Given the description of an element on the screen output the (x, y) to click on. 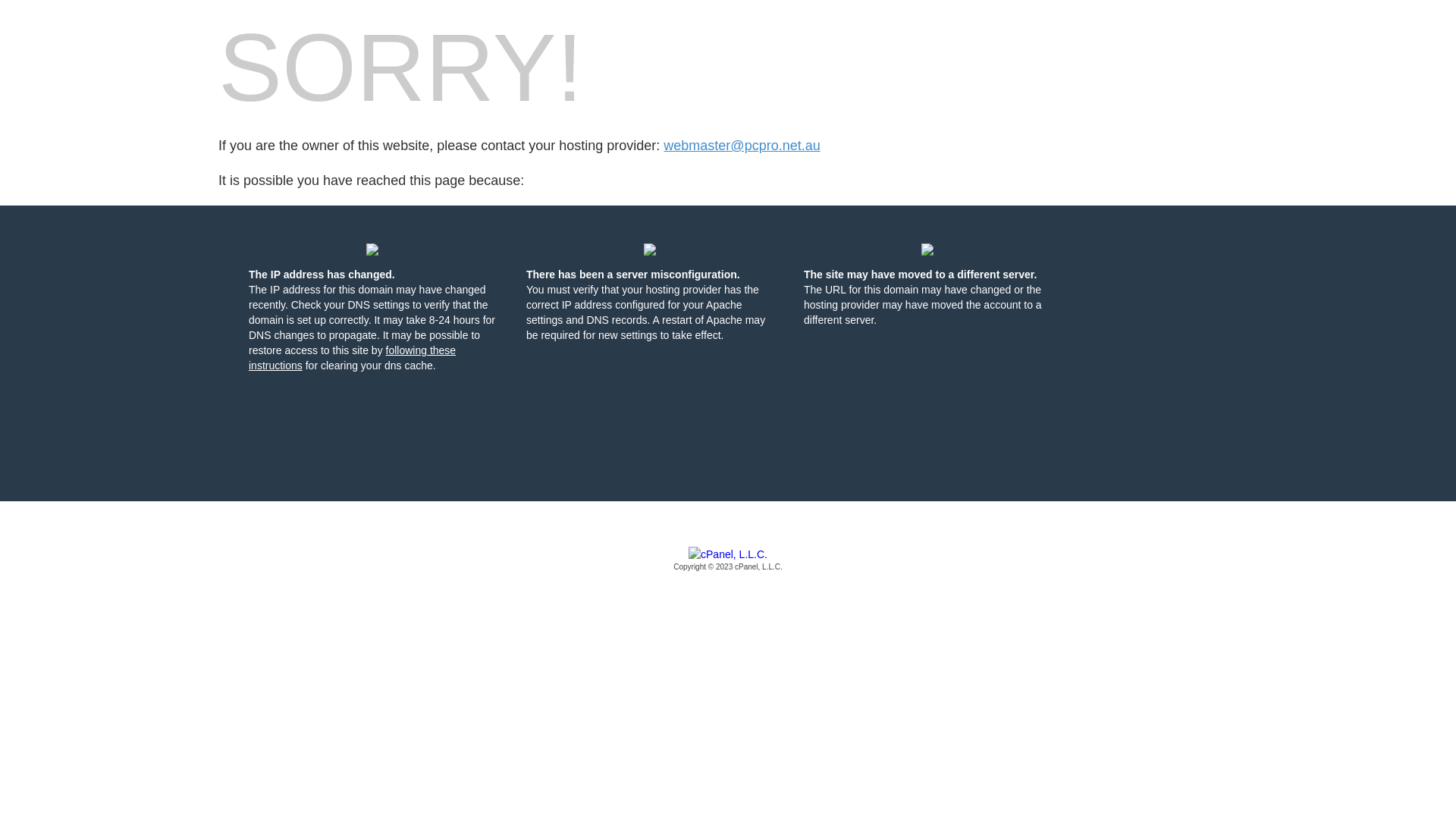
following these instructions Element type: text (351, 357)
webmaster@pcpro.net.au Element type: text (741, 145)
